Given the description of an element on the screen output the (x, y) to click on. 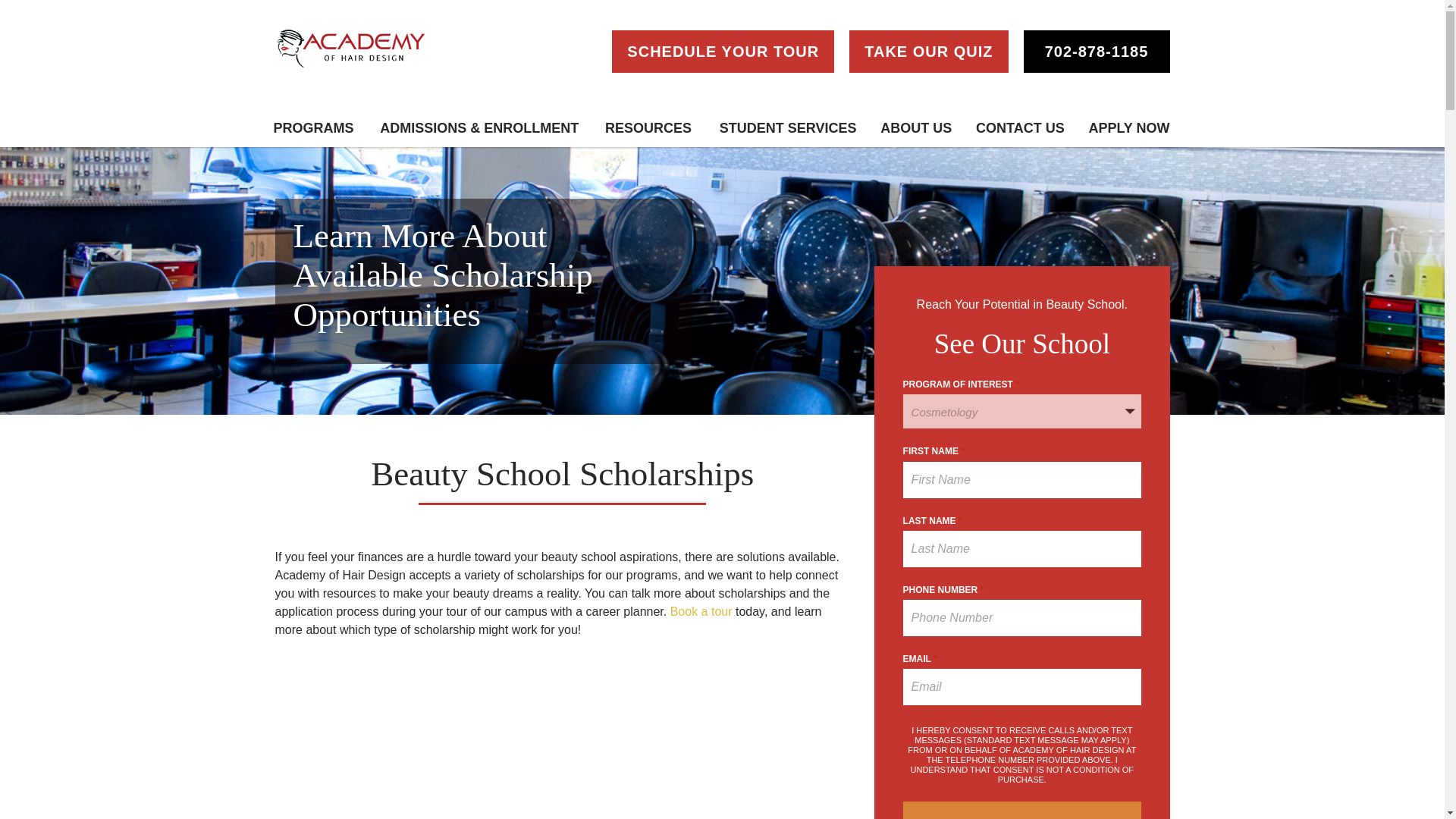
ABOUT US (916, 128)
702-878-1185 (1096, 51)
SCHEDULE YOUR TOUR (722, 51)
Talk To Me! (1021, 810)
RESOURCES (648, 128)
APPLY NOW (1128, 128)
TAKE OUR QUIZ (927, 51)
CONTACT US (1019, 128)
Book a tour (700, 611)
STUDENT SERVICES (788, 128)
